Given the description of an element on the screen output the (x, y) to click on. 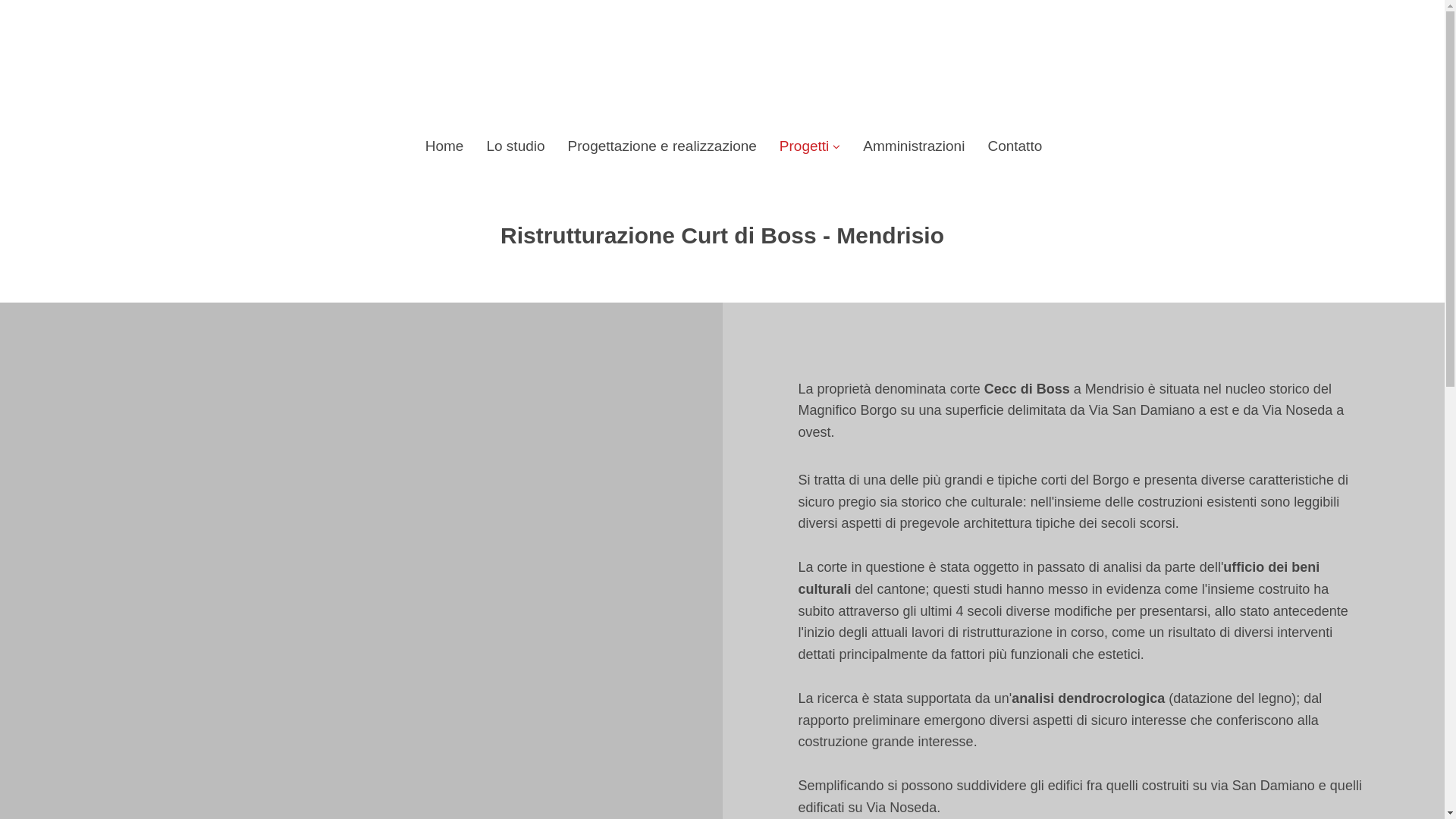
Contatto Element type: text (1014, 145)
Progettazione e realizzazione Element type: text (661, 145)
Lo studio Element type: text (515, 145)
Progetti Element type: text (809, 145)
Home Element type: text (444, 145)
Amministrazioni Element type: text (913, 145)
